Given the description of an element on the screen output the (x, y) to click on. 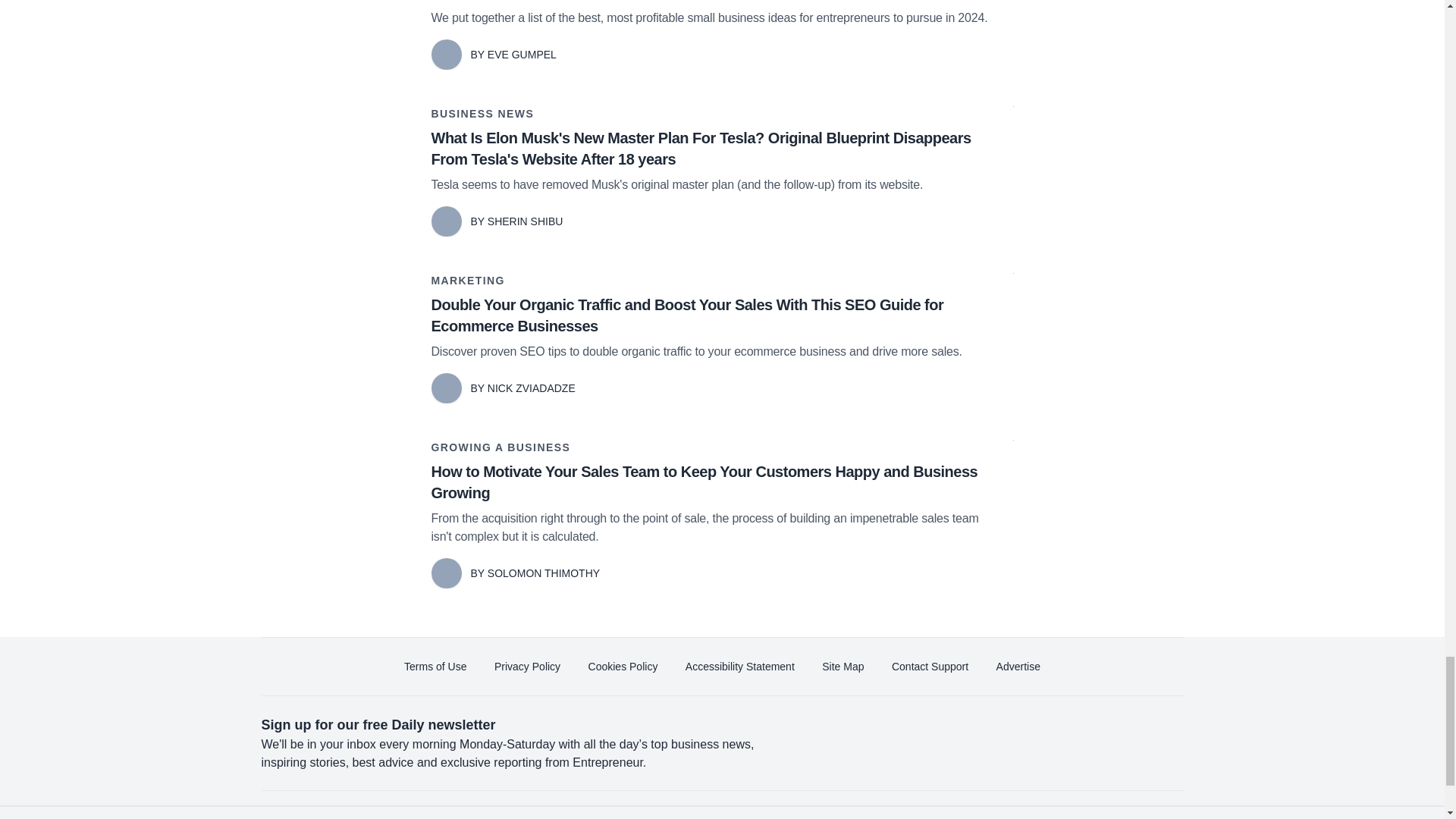
facebook (866, 814)
linkedin (952, 814)
tiktok (1079, 814)
instagram (1037, 814)
twitter (909, 814)
snapchat (1121, 814)
youtube (994, 814)
